Given the description of an element on the screen output the (x, y) to click on. 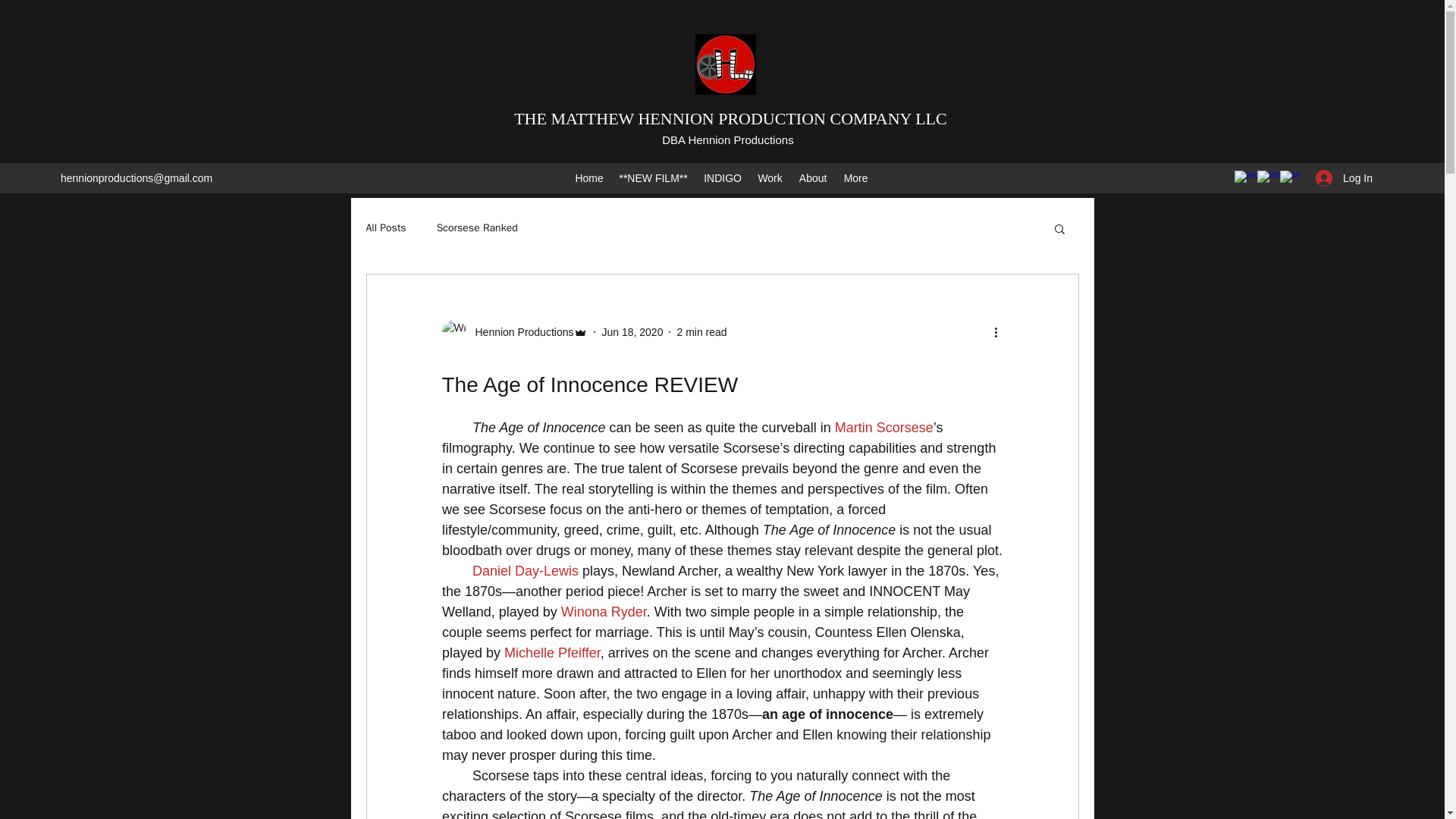
Jun 18, 2020 (631, 331)
Scorsese Ranked (477, 228)
THE MATTHEW HENNION PRODUCTION COMPANY LLC (730, 117)
Michelle Pfeiffer (551, 652)
Work (769, 178)
About (812, 178)
INDIGO (722, 178)
Log In (1343, 178)
Hennion Productions (514, 331)
Home (589, 178)
